Given the description of an element on the screen output the (x, y) to click on. 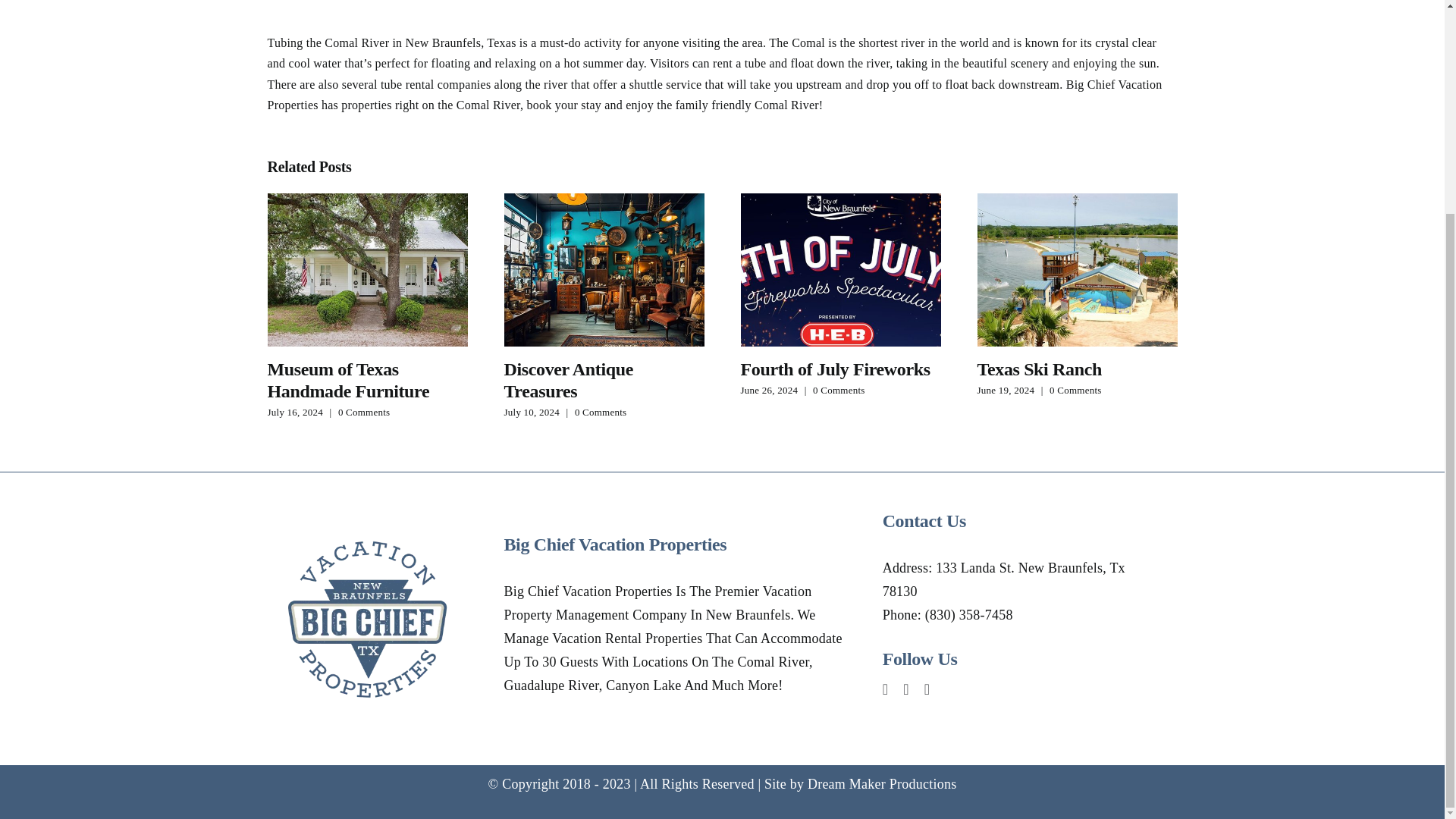
Fourth of July Fireworks (834, 369)
Discover Antique Treasures (567, 380)
Museum of Texas Handmade Furniture (347, 380)
Big-Chief-Final-800px (366, 618)
Texas Ski Ranch (1038, 369)
